Given the description of an element on the screen output the (x, y) to click on. 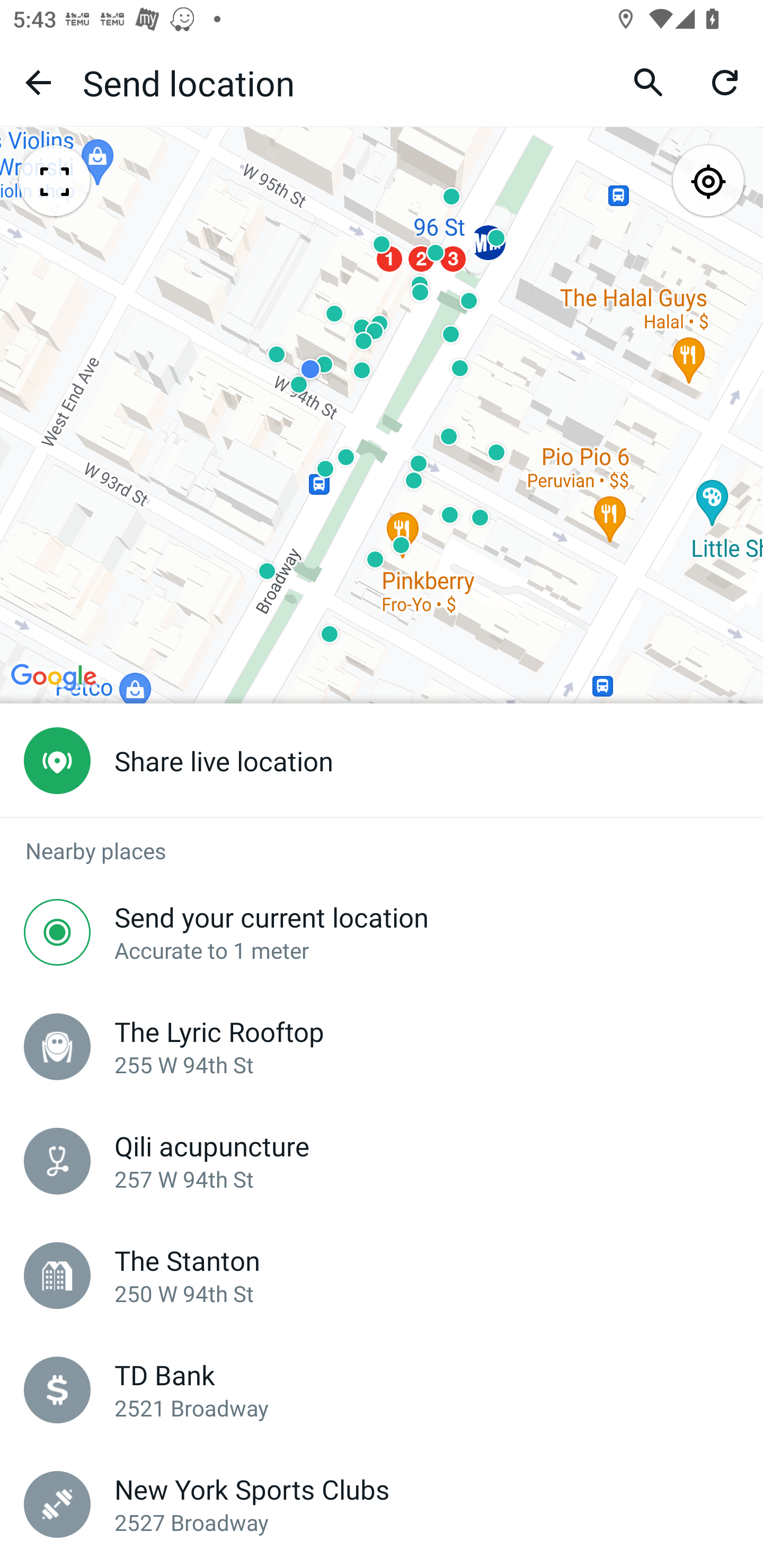
Navigate up (38, 82)
Search (648, 81)
Refresh (724, 81)
Hide places list (54, 181)
Move to your location (707, 181)
Share live location (381, 761)
Send your current location Accurate to 1 meter (381, 931)
The Lyric Rooftop 255 W 94th St (381, 1046)
Qili acupuncture 257 W 94th St (381, 1160)
The Stanton 250 W 94th St (381, 1275)
TD Bank 2521 Broadway (381, 1389)
New York Sports Clubs 2527 Broadway (381, 1504)
